Given the description of an element on the screen output the (x, y) to click on. 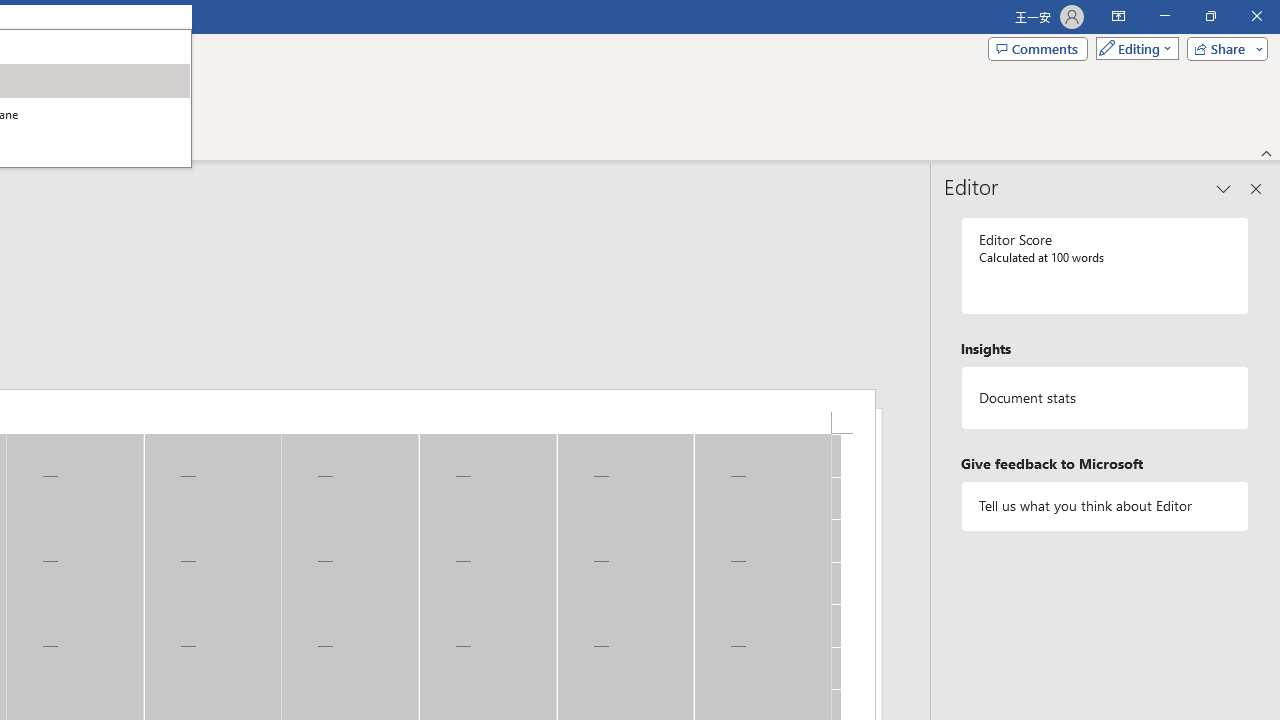
Ribbon Display Options (1118, 16)
Close (1256, 16)
Collapse the Ribbon (1267, 152)
Document statistics (1105, 398)
Close pane (1256, 188)
Dictate (35, 84)
Dictate (35, 102)
Restore Down (1210, 16)
Task Pane Options (1224, 188)
Editor (92, 102)
Comments (1038, 48)
Mode (1133, 47)
